Given the description of an element on the screen output the (x, y) to click on. 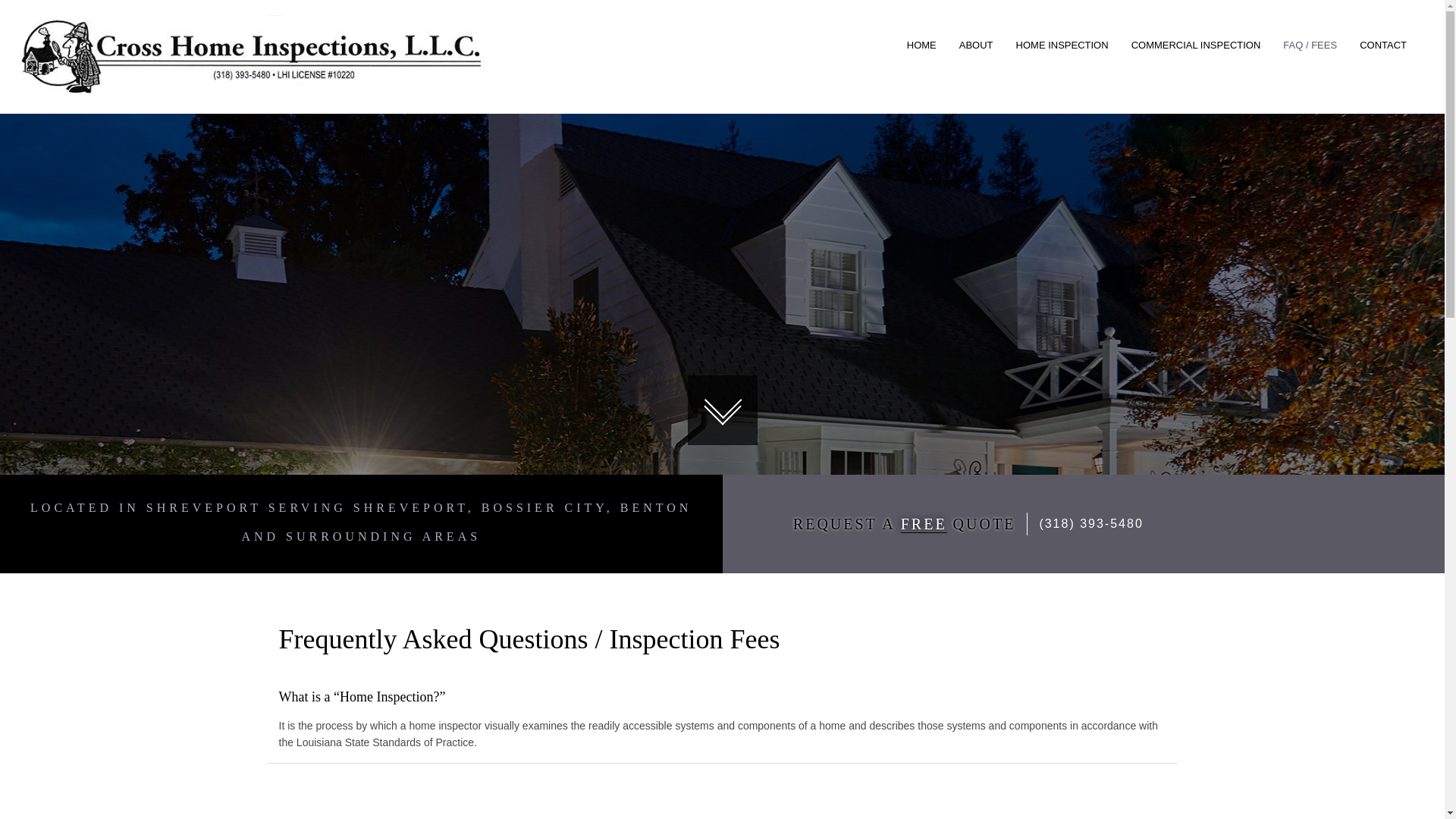
CONTACT (1383, 45)
HOME INSPECTION (1061, 45)
ABOUT (975, 45)
REQUEST A FREE QUOTE (886, 523)
COMMERCIAL INSPECTION (1195, 45)
